Given the description of an element on the screen output the (x, y) to click on. 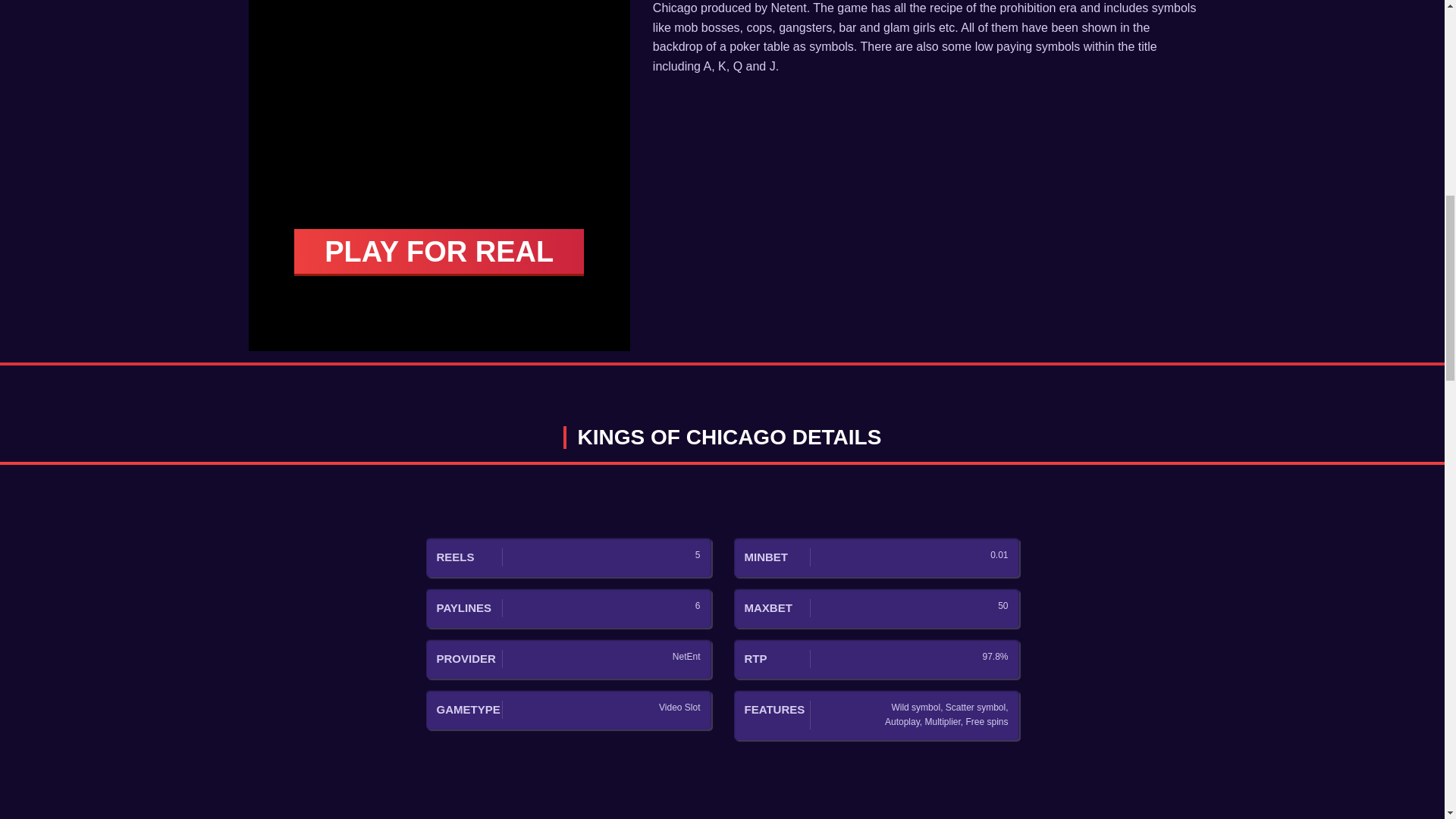
PLAY FOR REAL (438, 252)
